Given the description of an element on the screen output the (x, y) to click on. 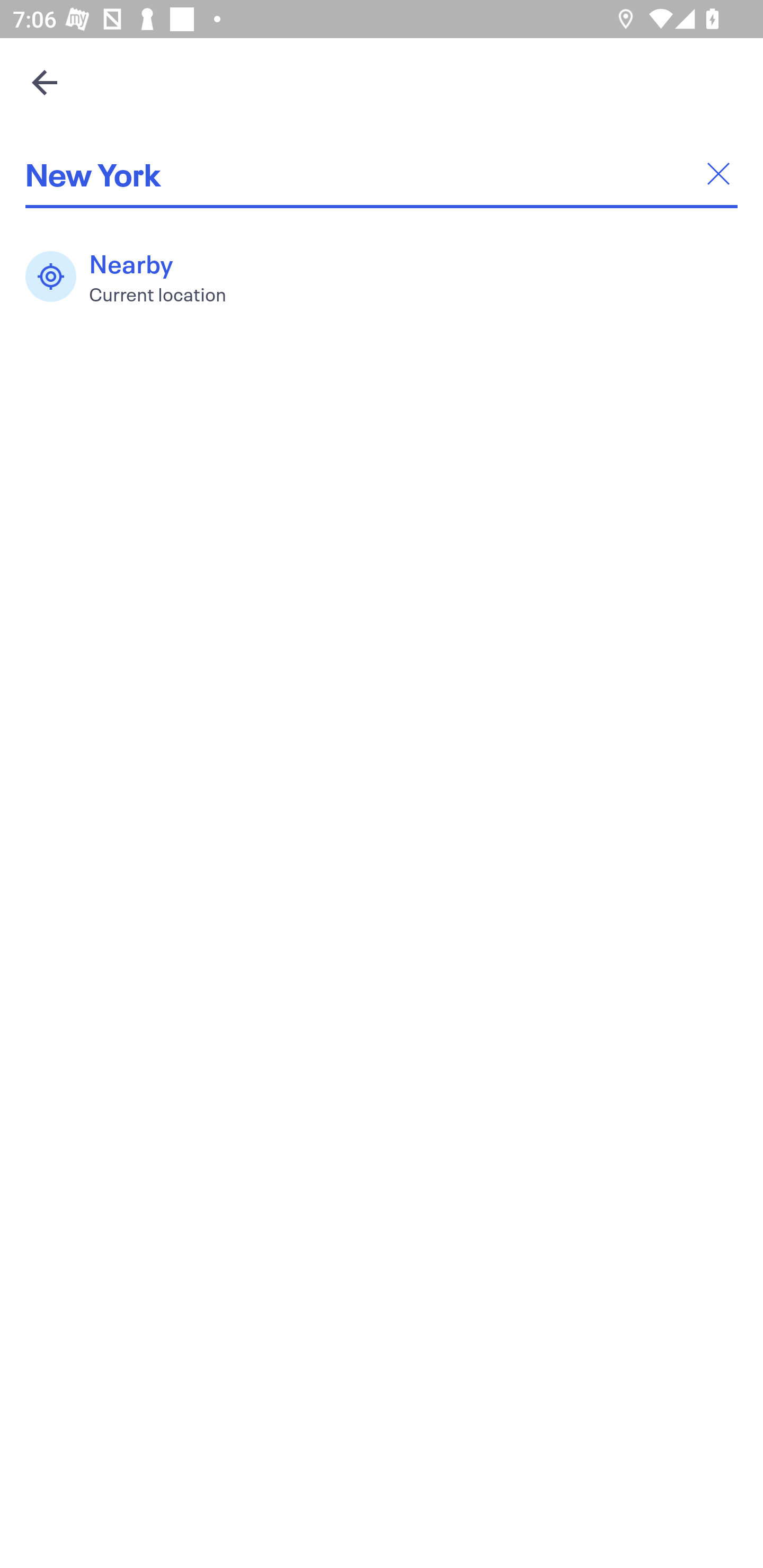
Navigate up (44, 82)
New York (381, 173)
Nearby Current location (135, 276)
